Given the description of an element on the screen output the (x, y) to click on. 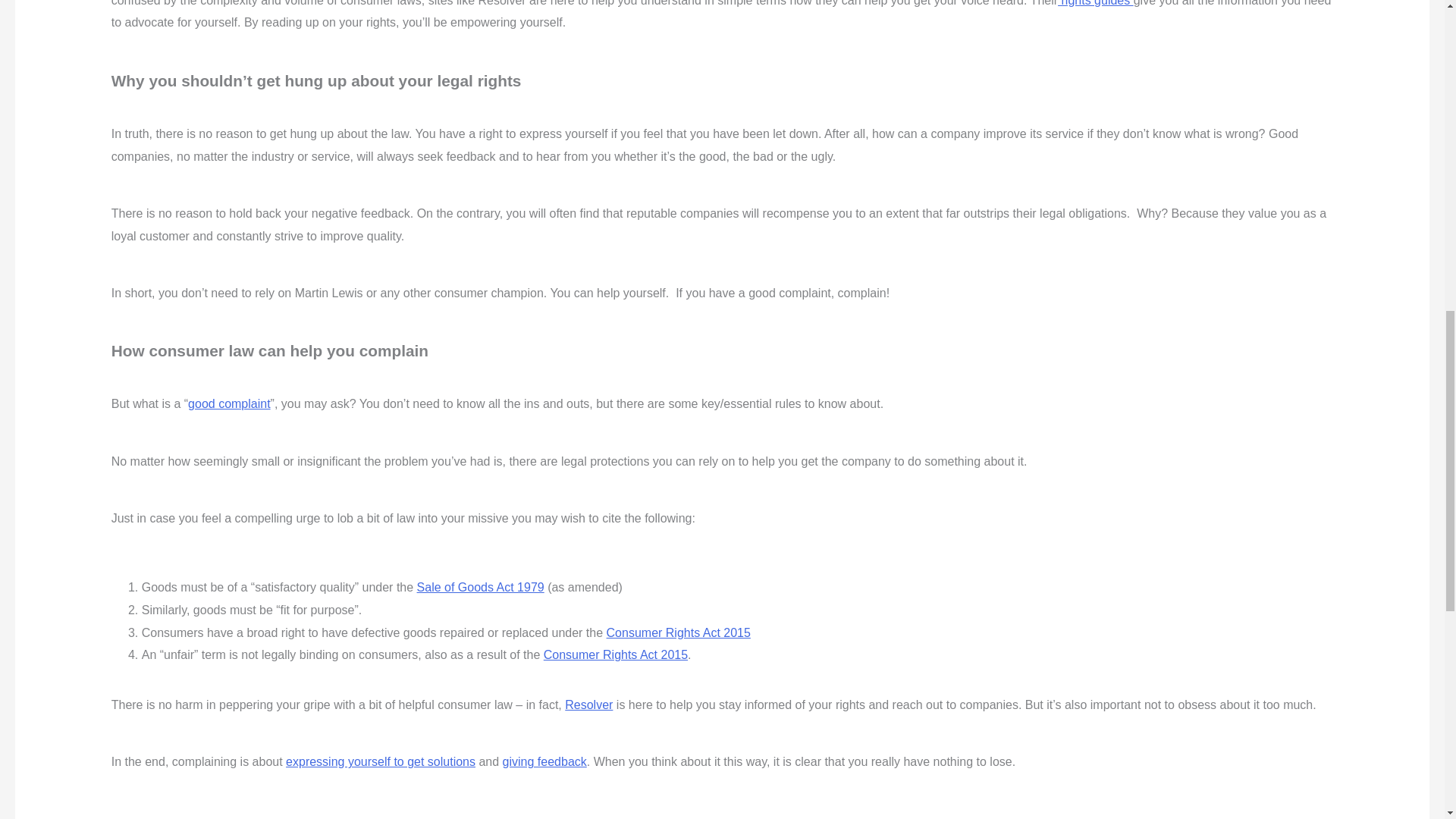
giving feedback (544, 761)
rights guides (1096, 3)
good complaint (228, 403)
Sale of Goods Act 1979 (480, 586)
Consumer Rights Act 2015 (615, 654)
expressing yourself to get solutions (380, 761)
Resolver (588, 704)
Consumer Rights Act 2015 (679, 632)
